Given the description of an element on the screen output the (x, y) to click on. 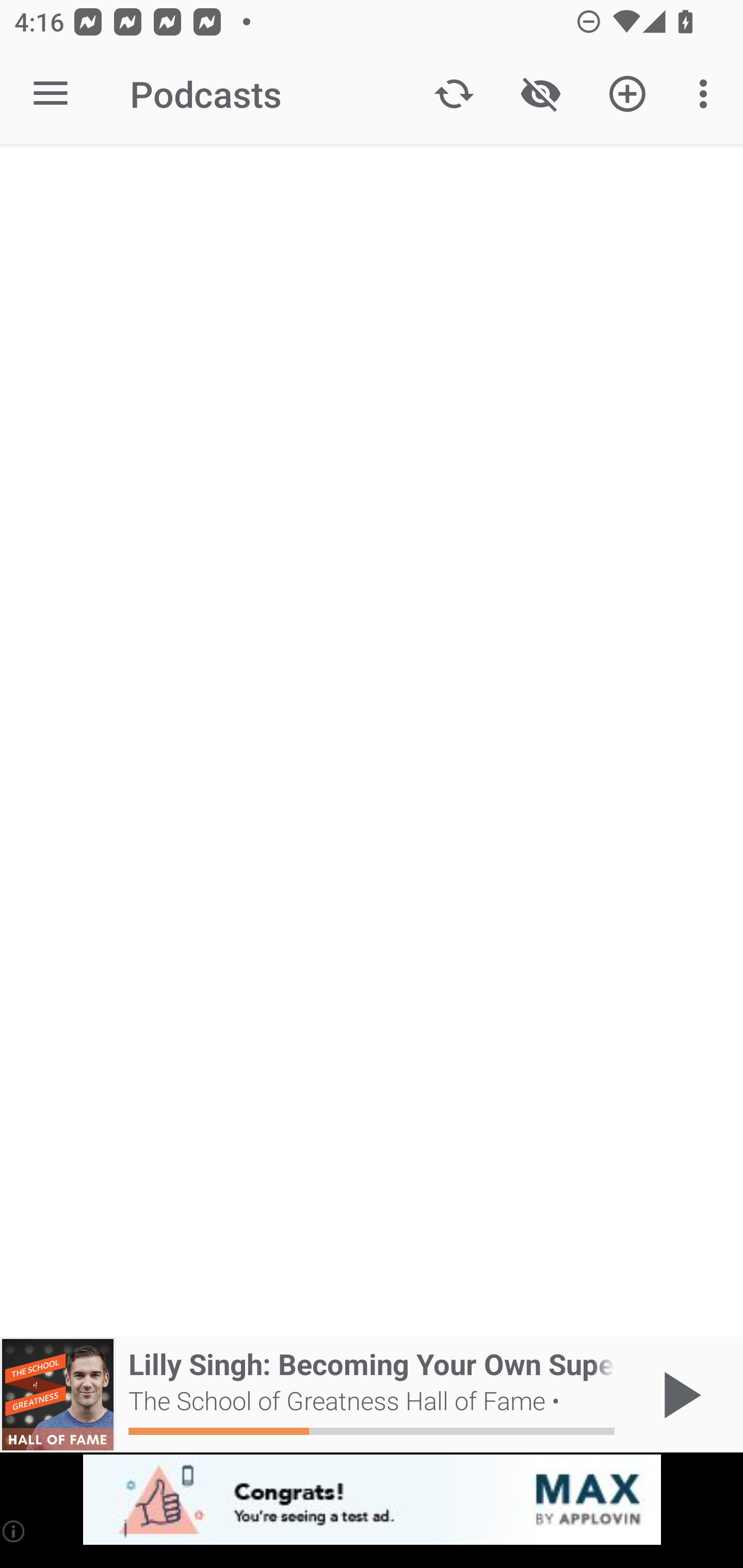
Open navigation sidebar (50, 93)
Update (453, 93)
Show / Hide played content (540, 93)
Add new Podcast (626, 93)
More options (706, 93)
Play / Pause (677, 1394)
app-monetization (371, 1500)
(i) (14, 1531)
